Given the description of an element on the screen output the (x, y) to click on. 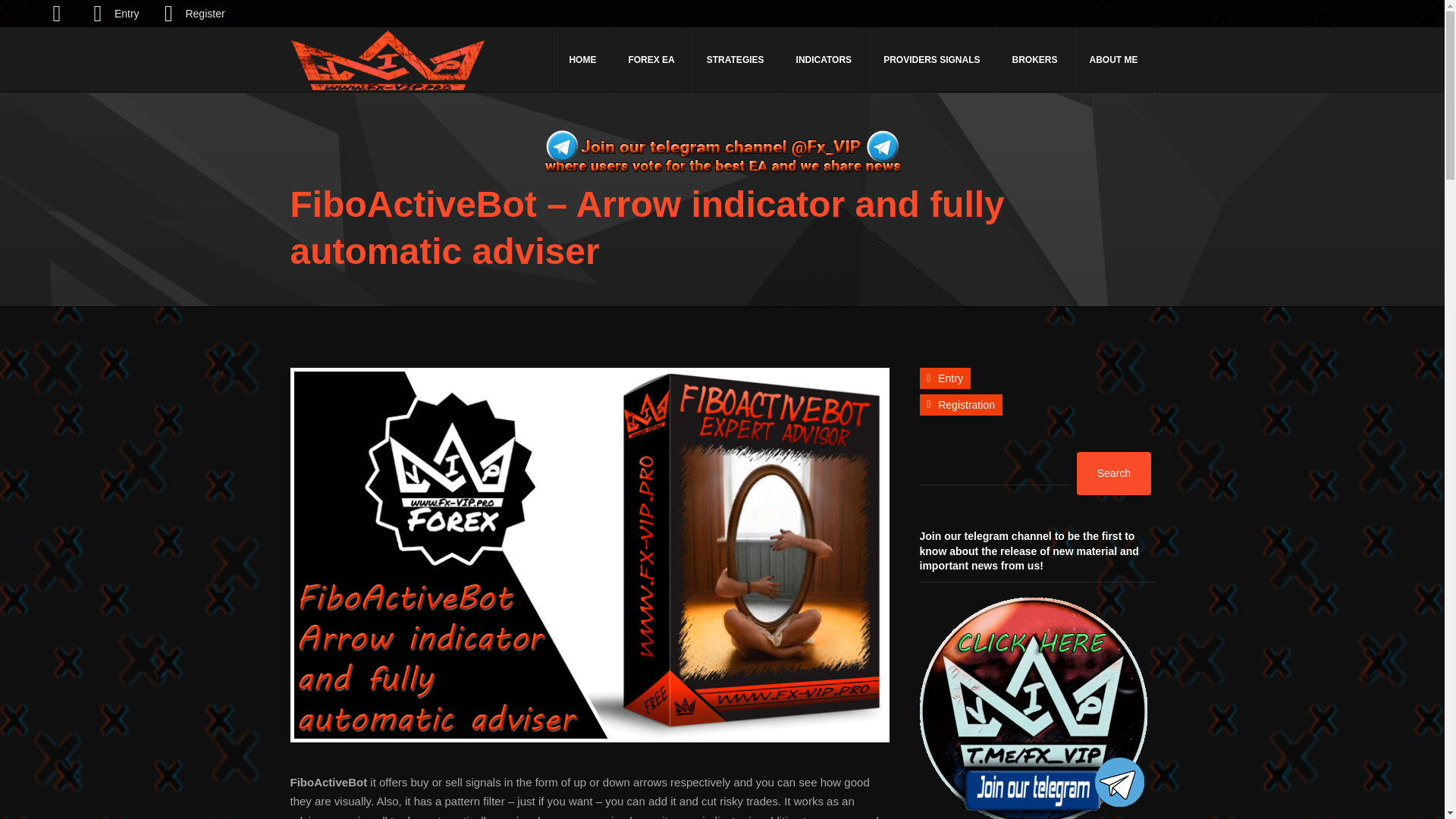
STRATEGIES (735, 59)
Entry (943, 378)
FOREX EA (650, 59)
Search (1114, 473)
ABOUT ME (1114, 59)
Registration (959, 404)
INDICATORS (823, 59)
HOME (582, 59)
PROVIDERS SIGNALS (931, 59)
Entry (943, 378)
